Given the description of an element on the screen output the (x, y) to click on. 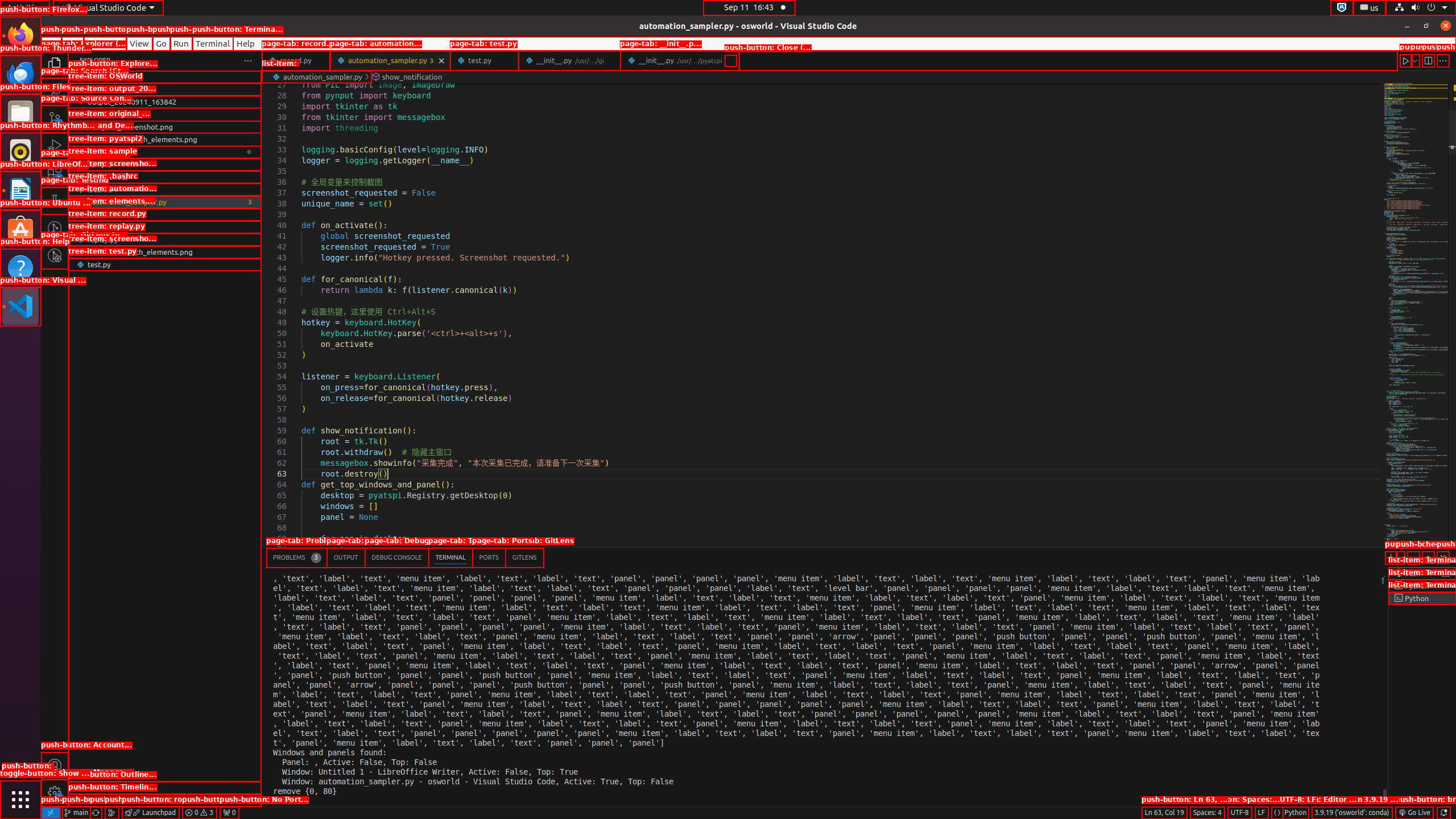
Terminal Element type: push-button (212, 43)
UTF-8 Element type: push-button (1239, 812)
Warnings: 3 Element type: push-button (199, 812)
Problems (Ctrl+Shift+M) - Total 3 Problems Element type: page-tab (296, 557)
Editor Language Status: Auto Import Completions: false, next: Type Checking: off Element type: push-button (1277, 812)
